Given the description of an element on the screen output the (x, y) to click on. 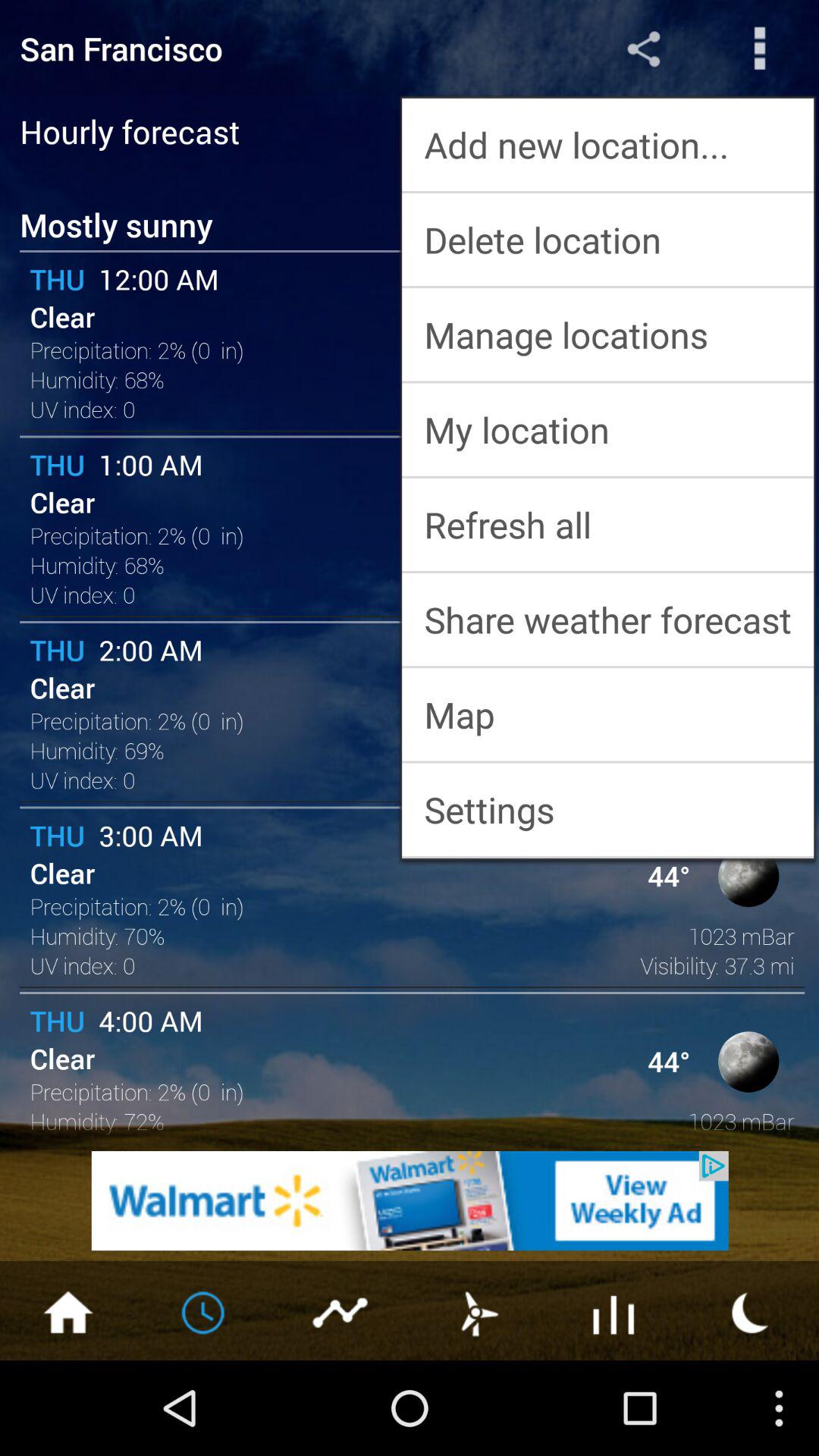
jump to the manage locations (607, 334)
